Given the description of an element on the screen output the (x, y) to click on. 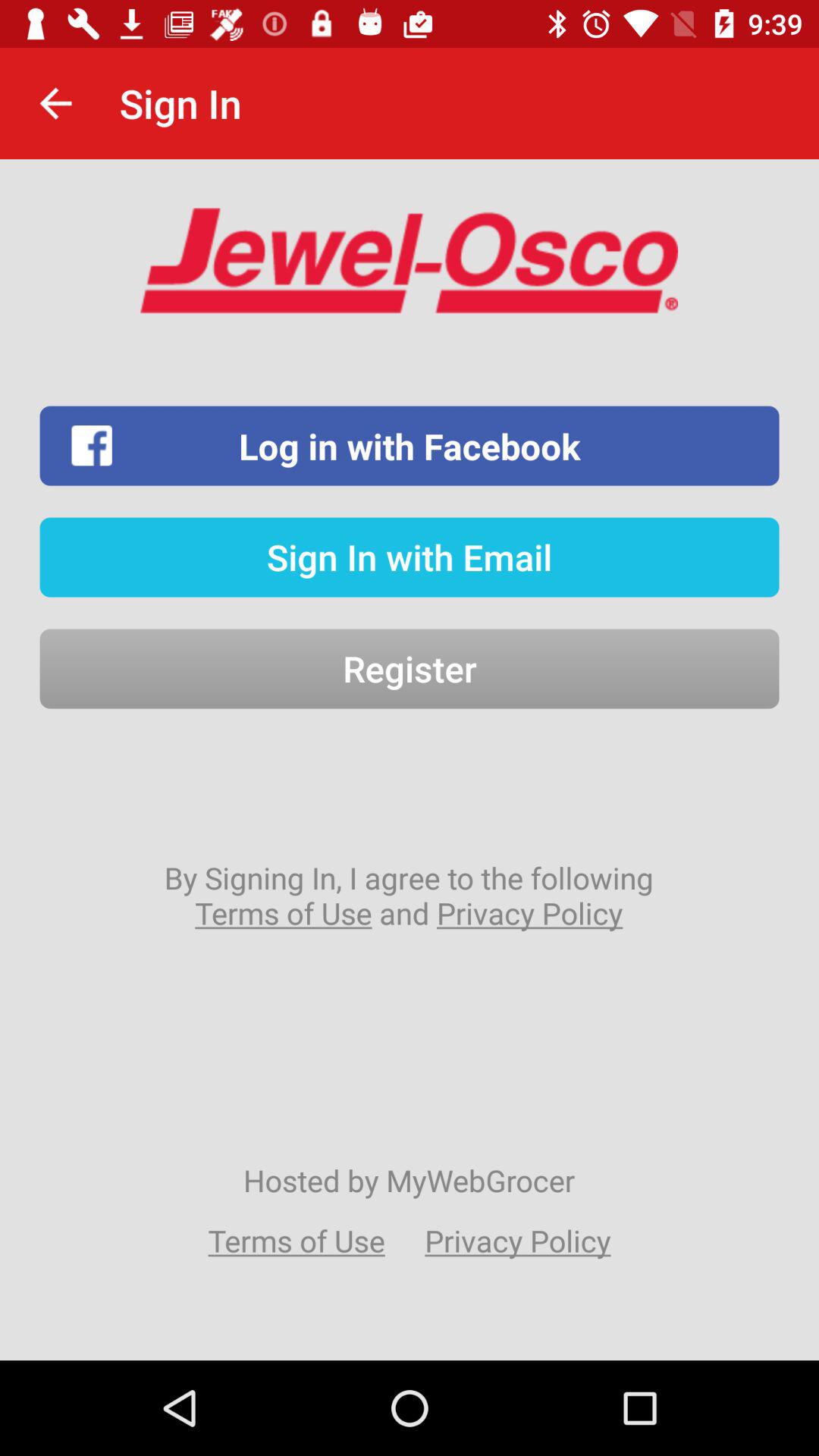
turn on icon above the hosted by mywebgrocer (408, 895)
